Given the description of an element on the screen output the (x, y) to click on. 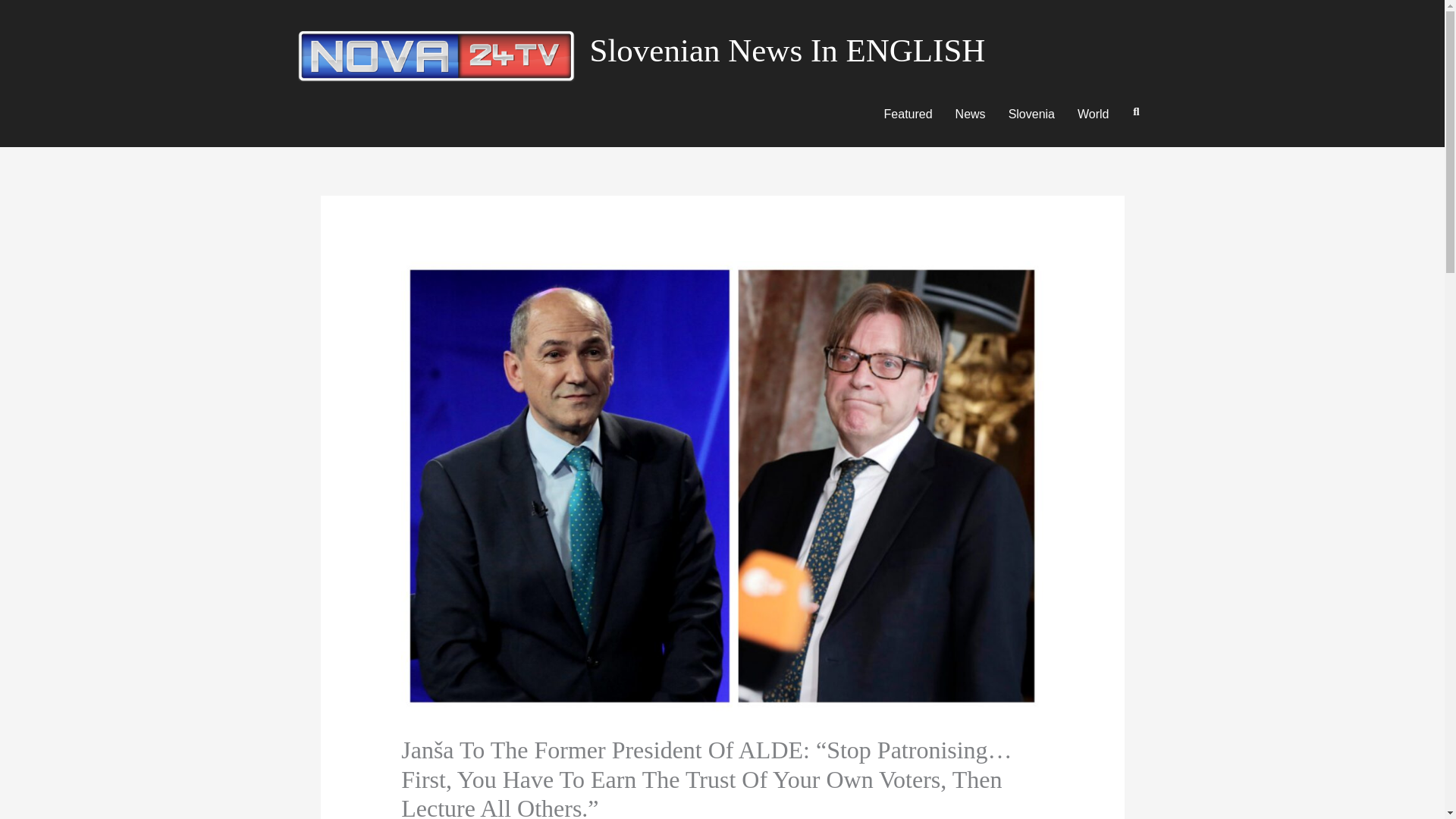
Featured (907, 114)
World (1093, 114)
Search (1131, 111)
Slovenia (1031, 114)
News (970, 114)
